Given the description of an element on the screen output the (x, y) to click on. 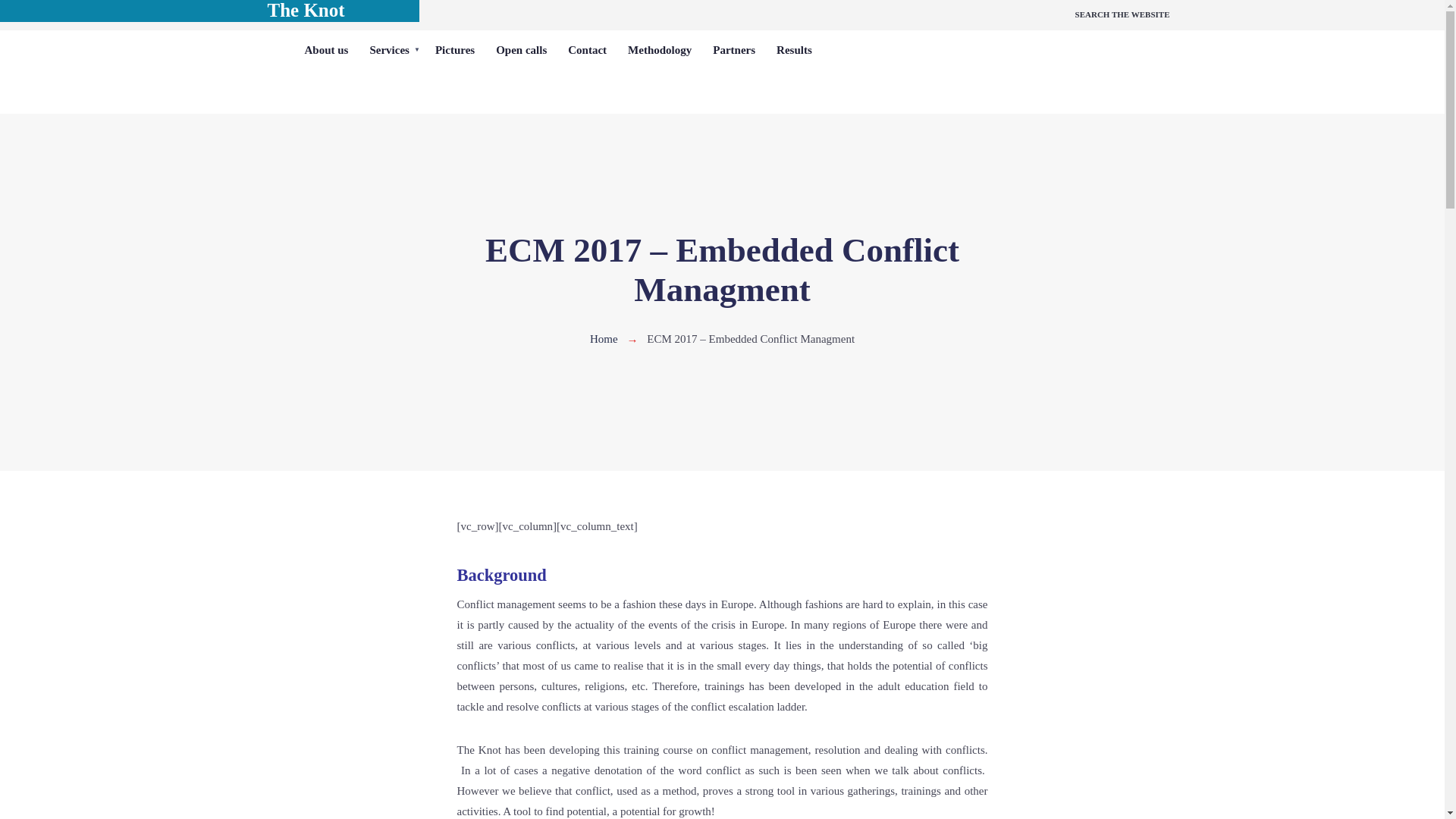
Home (603, 337)
Open calls (520, 50)
Pictures (454, 50)
Partners (733, 50)
Methodology (659, 50)
The Knot (304, 10)
Results (793, 50)
SEARCH THE WEBSITE (1122, 15)
Contact (587, 50)
Services (390, 50)
